Given the description of an element on the screen output the (x, y) to click on. 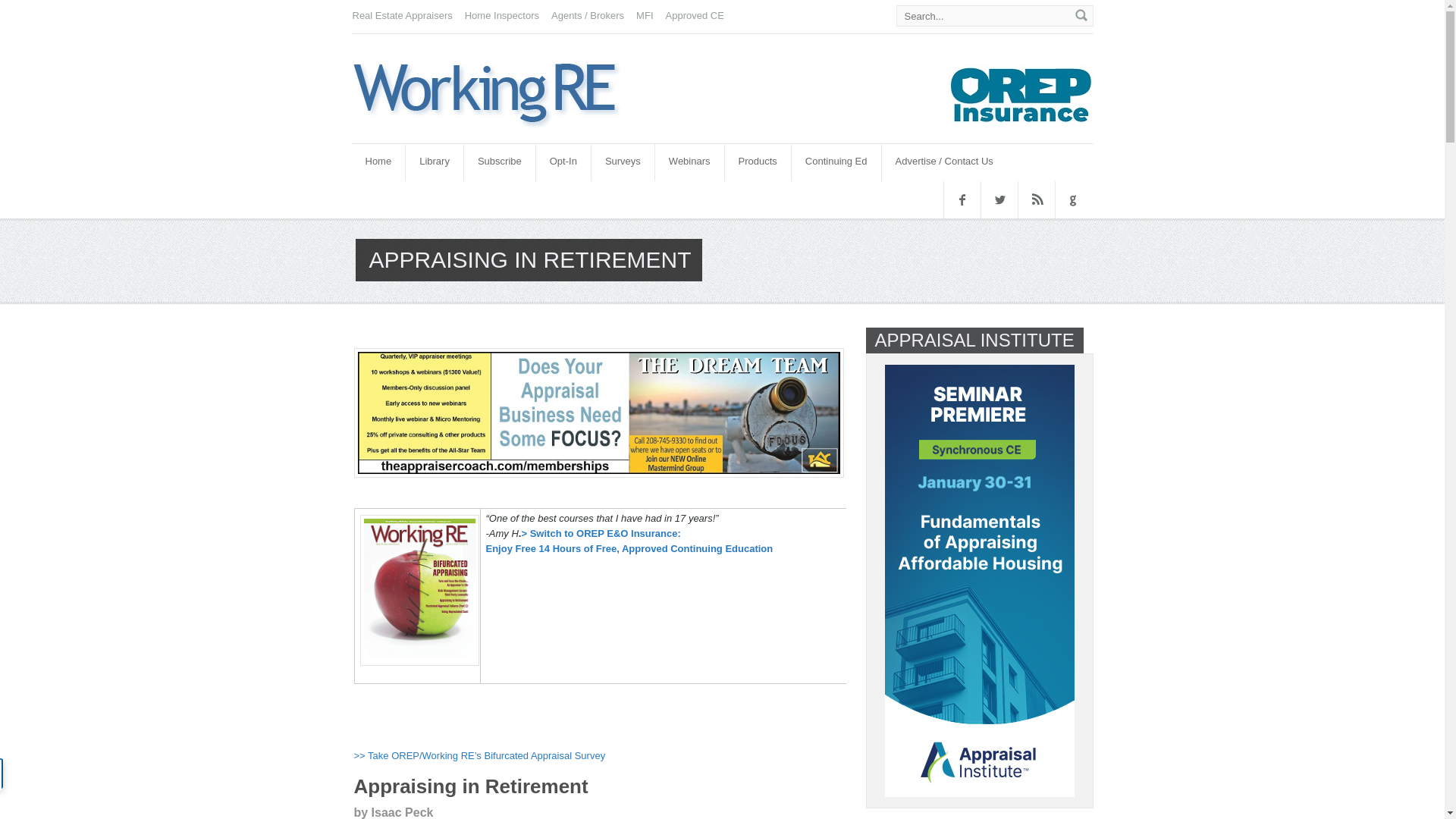
Appraising in Retirement (503, 94)
Subscribe (499, 162)
Approved CE (694, 15)
Webinars (689, 162)
MFI (644, 15)
Home Inspectors (501, 15)
Surveys (622, 162)
Library (434, 162)
Home (379, 162)
Real Estate Appraisers (401, 15)
Opt-In (563, 162)
